Given the description of an element on the screen output the (x, y) to click on. 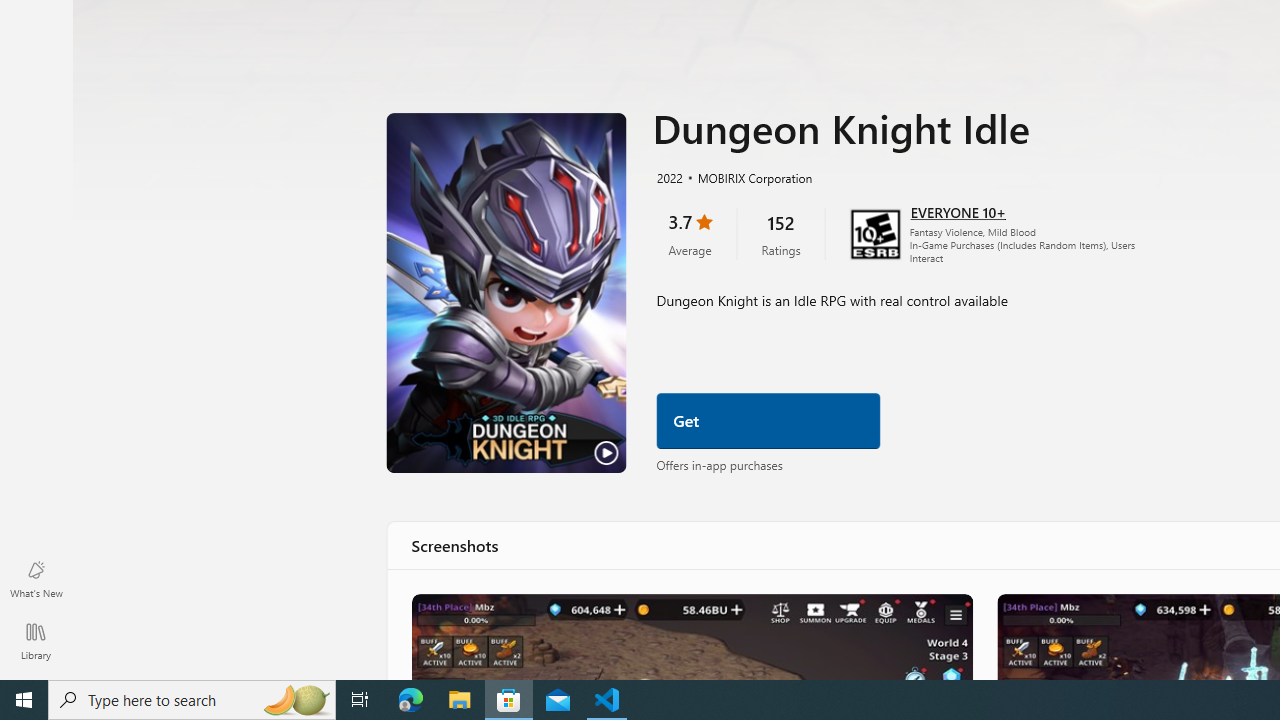
Dungeon Knight Idle (690, 636)
3.7 stars. Click to skip to ratings and reviews (689, 232)
Get (767, 421)
MOBIRIX Corporation (746, 177)
Age rating: EVERYONE 10+. Click for more information. (956, 211)
Play Trailer (505, 293)
2022 (667, 177)
